Given the description of an element on the screen output the (x, y) to click on. 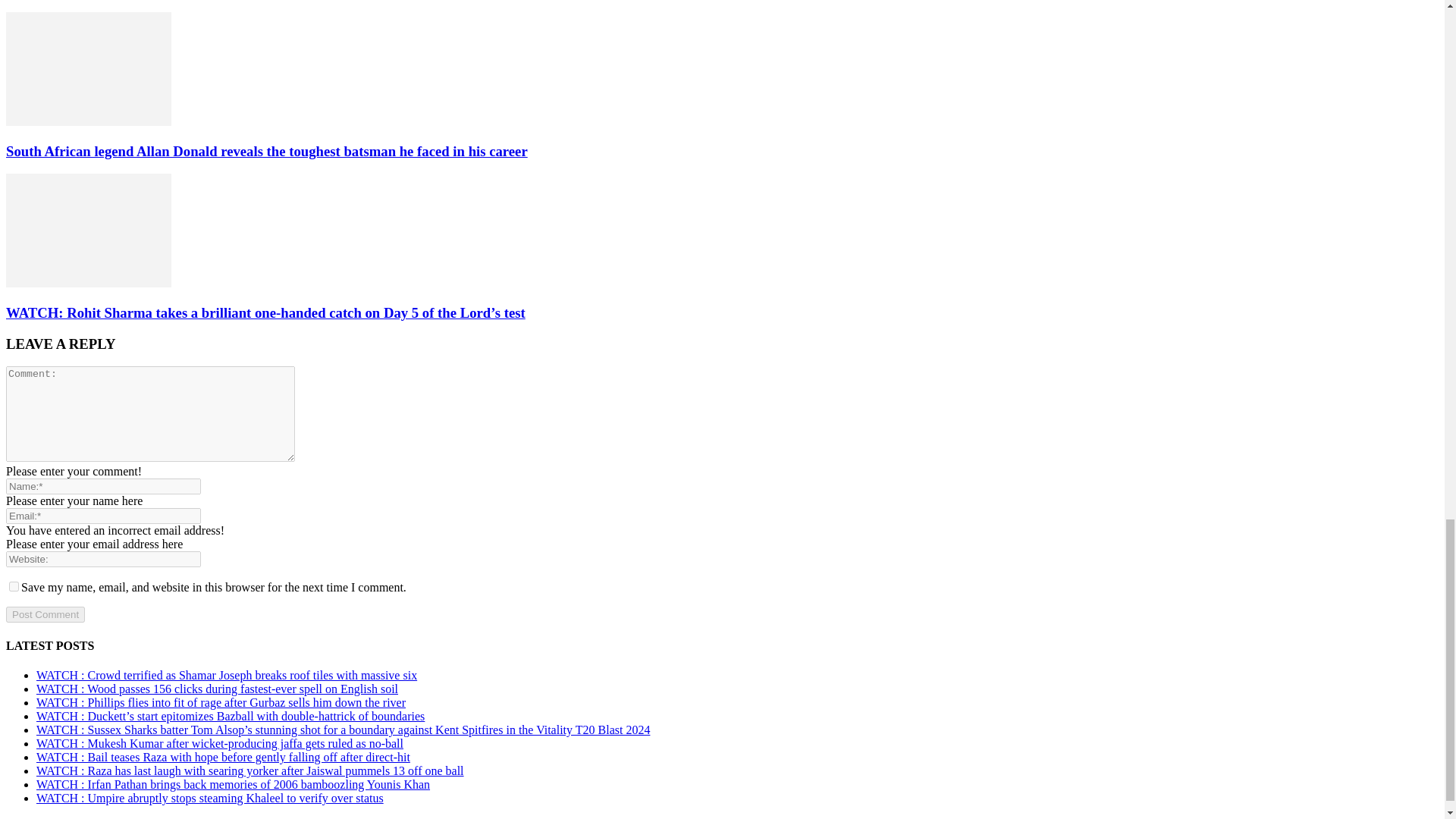
Post Comment (44, 614)
yes (13, 586)
